Given the description of an element on the screen output the (x, y) to click on. 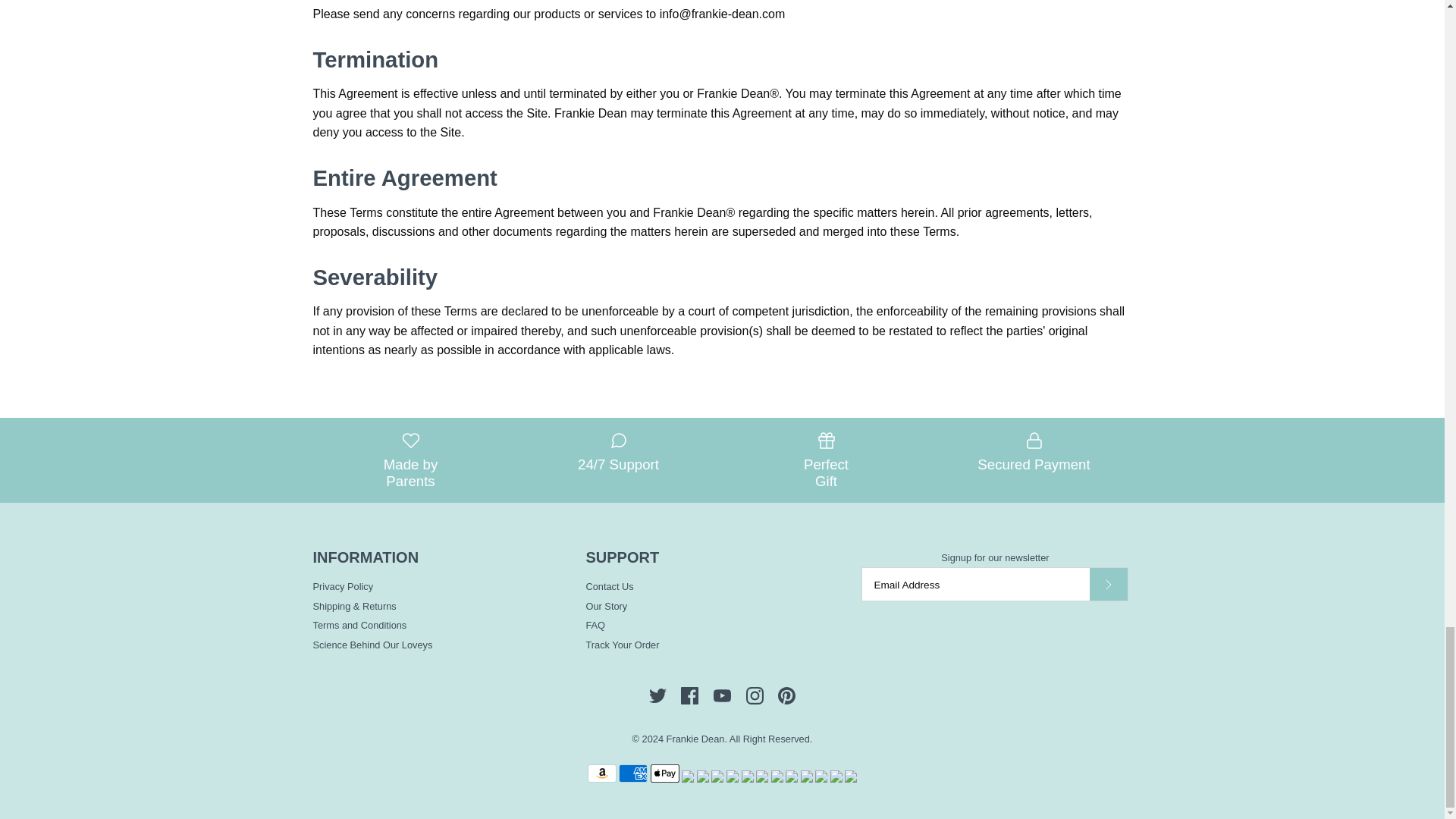
Facebook (689, 695)
Pinterest (785, 695)
Track Your Order (622, 644)
Facebook (689, 695)
Science Behind Our Loveys (372, 644)
FAQ (595, 624)
Twitter (657, 695)
Instagram (753, 695)
Youtube (721, 695)
Twitter (657, 695)
Pinterest (785, 695)
Our Story (606, 605)
Contact Us (609, 586)
Terms and Conditions (359, 624)
Privacy Policy (342, 586)
